Given the description of an element on the screen output the (x, y) to click on. 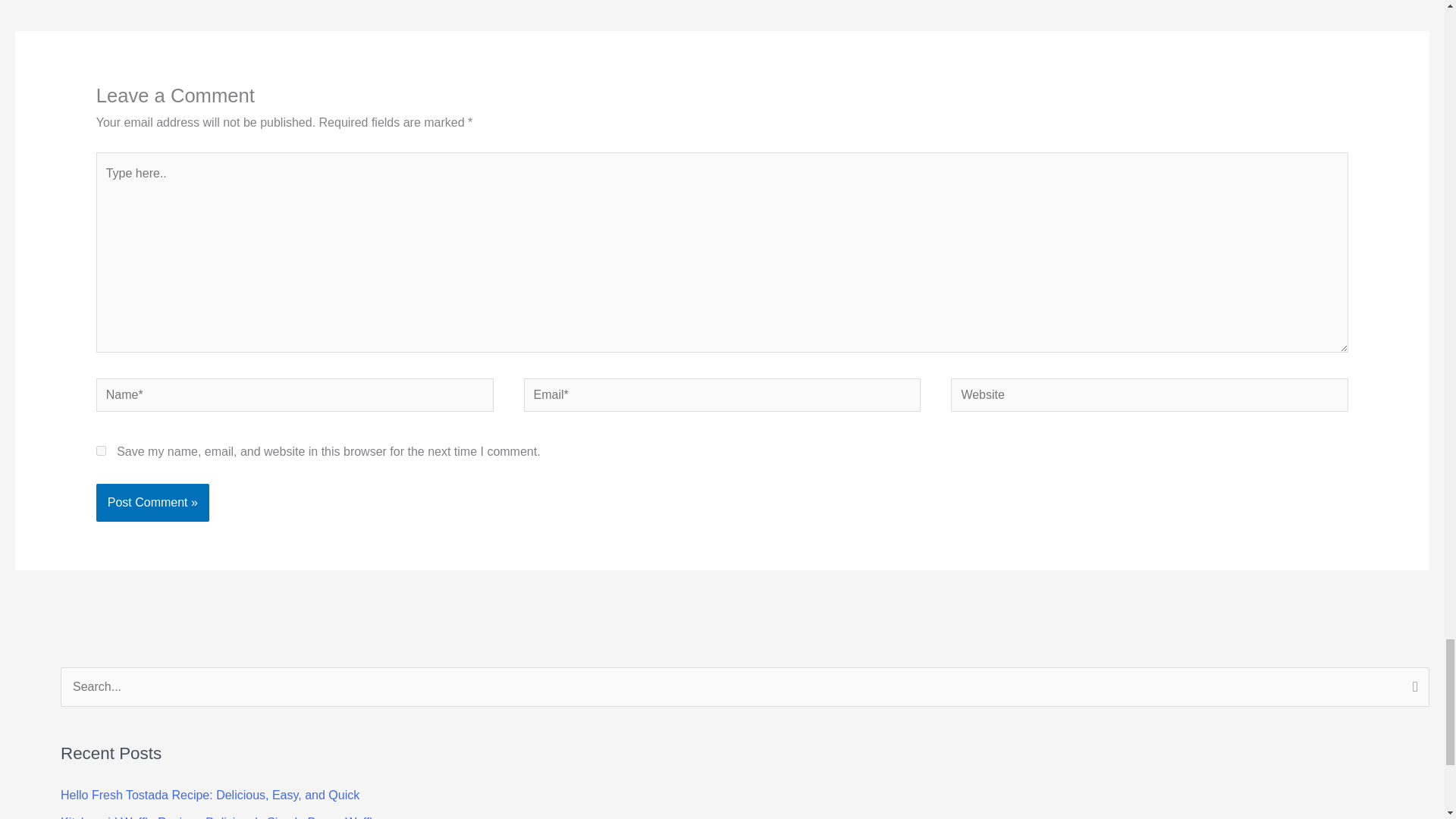
Hello Fresh Tostada Recipe: Delicious, Easy, and Quick (210, 794)
yes (101, 450)
